Given the description of an element on the screen output the (x, y) to click on. 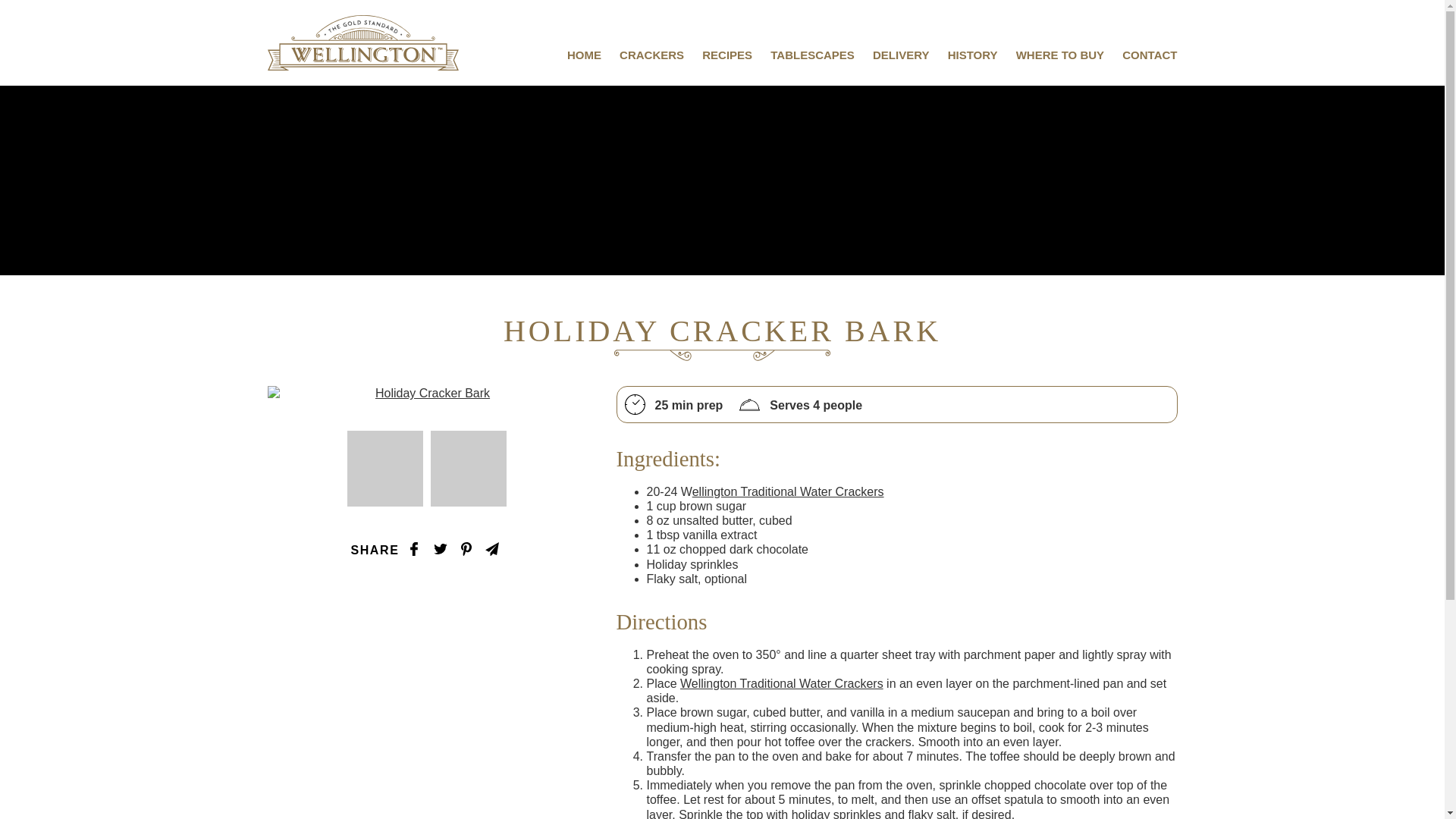
HOME (584, 55)
DELIVERY (900, 55)
WELLINGTON CRACKERS (362, 42)
Share as Email (491, 549)
CONTACT (1149, 55)
Tablescape Image (385, 468)
WHERE TO BUY (1059, 55)
Share to Pinterest (466, 549)
CRACKERS (652, 55)
ellington Traditional Water Crackers (788, 491)
Share to Twitter (439, 549)
TABLESCAPES (812, 55)
Wellington Traditional Water Crackers (781, 683)
RECIPES (726, 55)
Share to Facebook (413, 549)
